Given the description of an element on the screen output the (x, y) to click on. 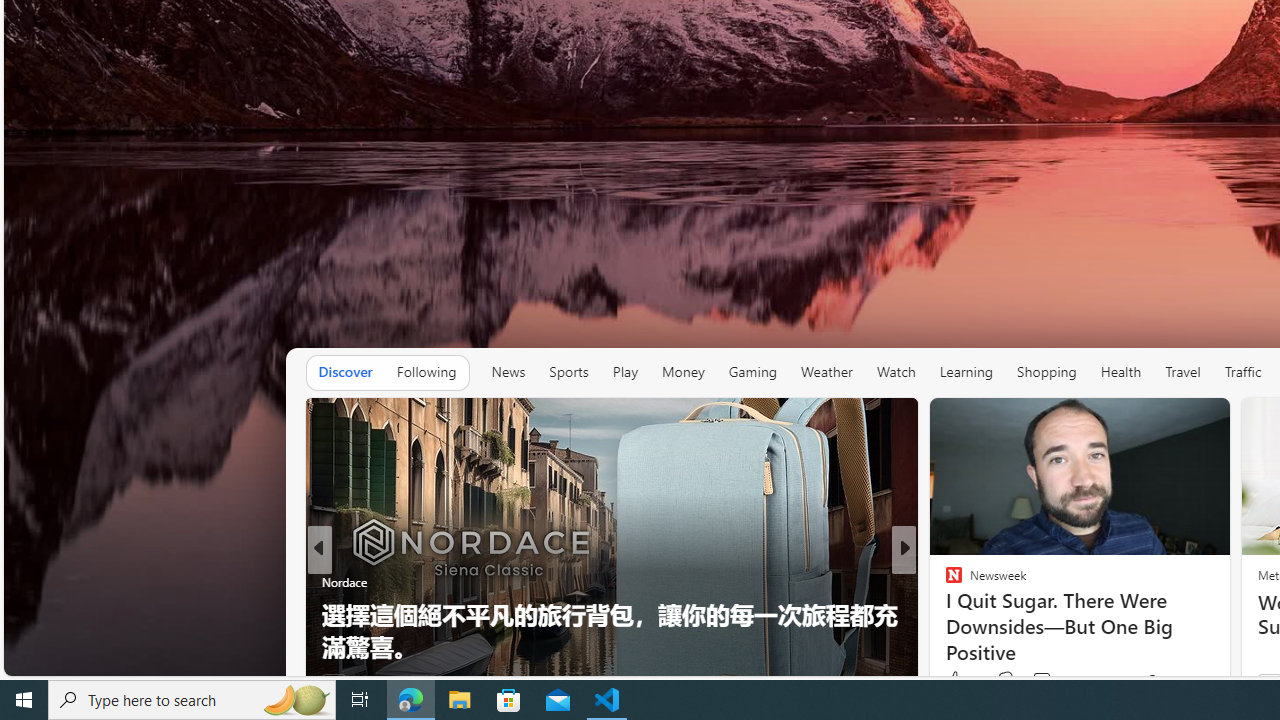
Health Digest (944, 614)
1k Like (961, 680)
View comments 116 Comment (1041, 679)
Traffic (1243, 371)
Shopping (1047, 371)
658 Like (959, 681)
View comments 18 Comment (1051, 681)
Shopping (1046, 372)
Play (625, 371)
Travel (1183, 371)
Travel (1183, 372)
Traffic (1242, 372)
